Given the description of an element on the screen output the (x, y) to click on. 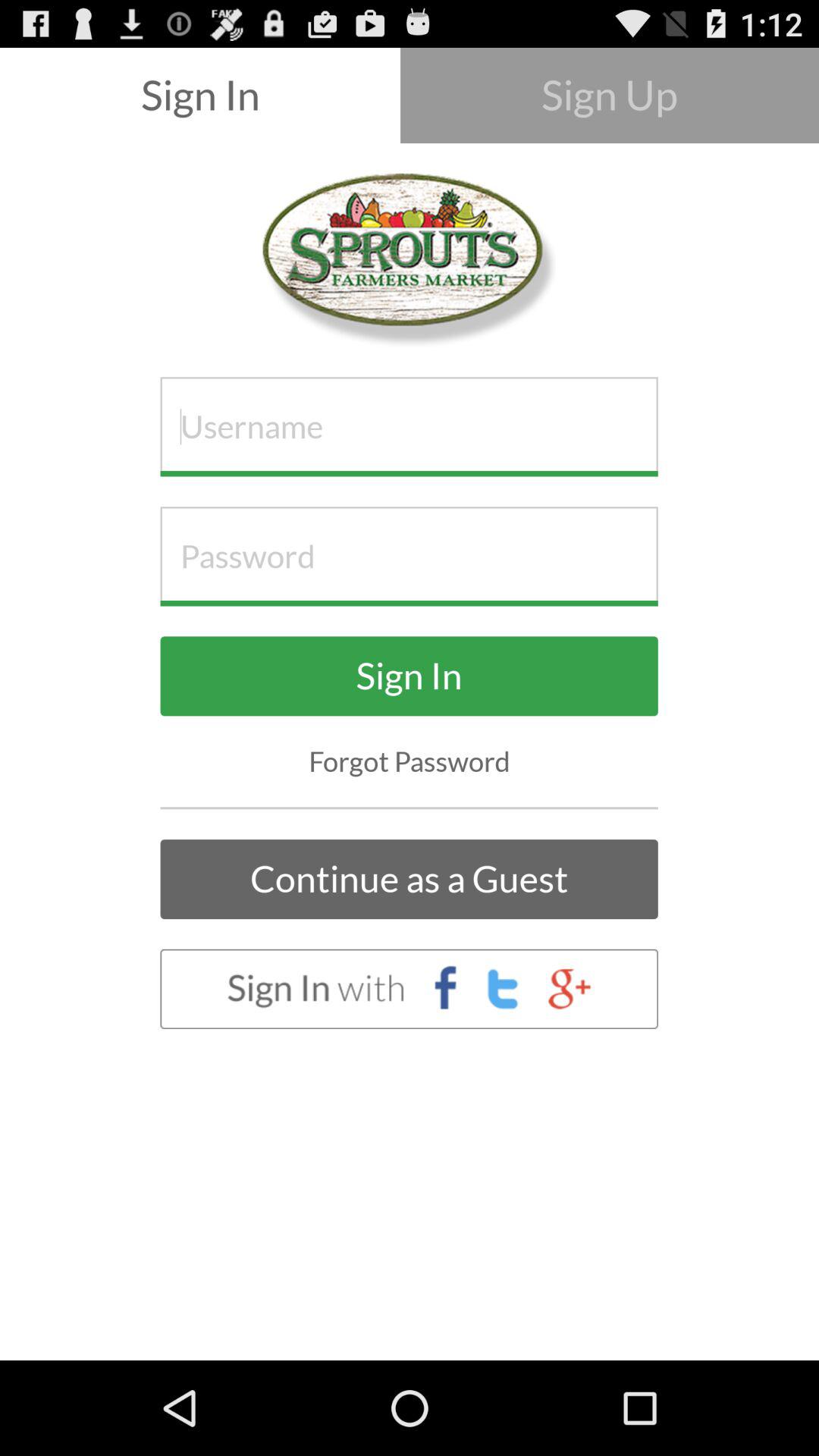
jump to forgot password app (409, 761)
